Given the description of an element on the screen output the (x, y) to click on. 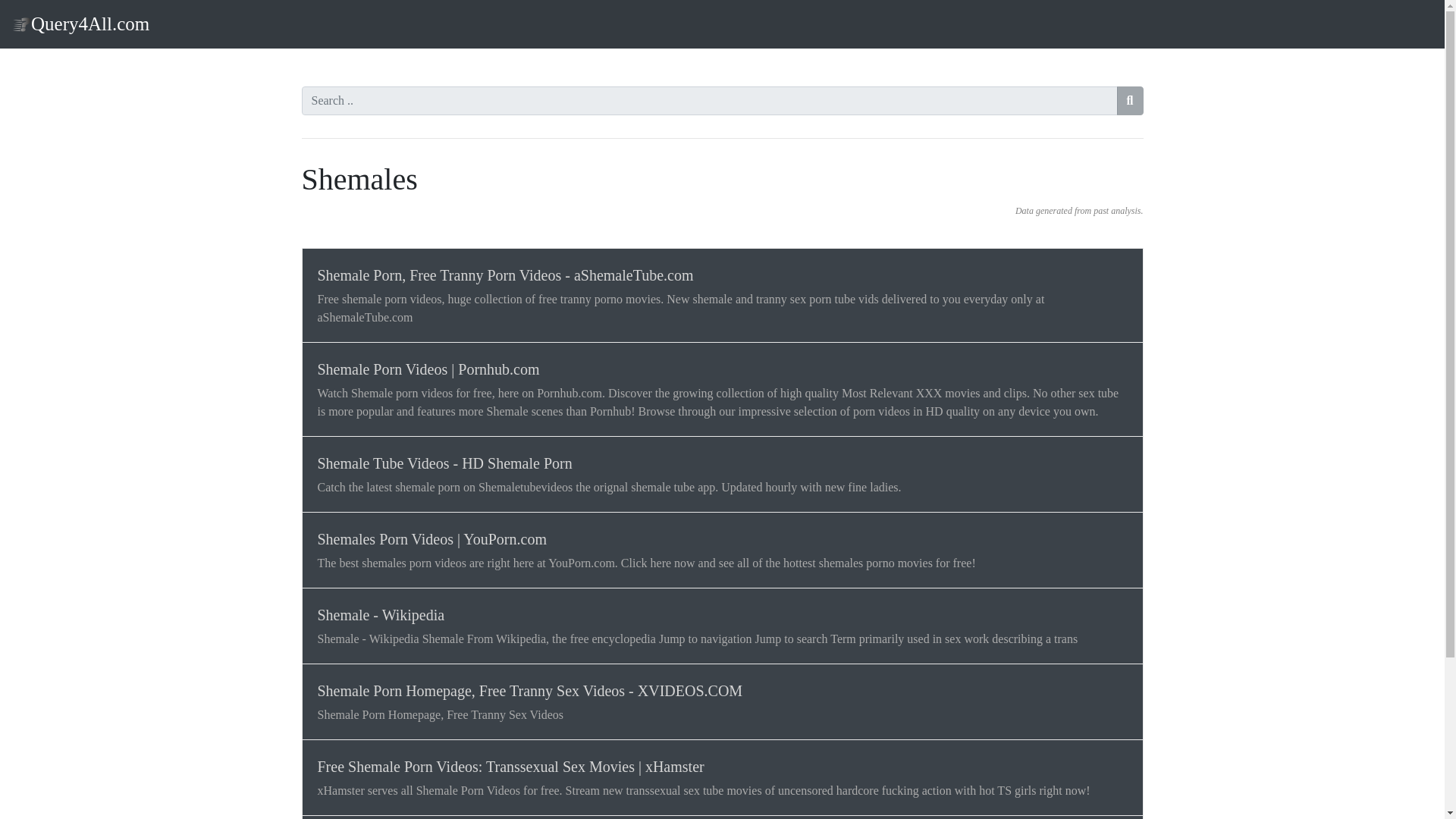
Query4All.com (80, 23)
